Given the description of an element on the screen output the (x, y) to click on. 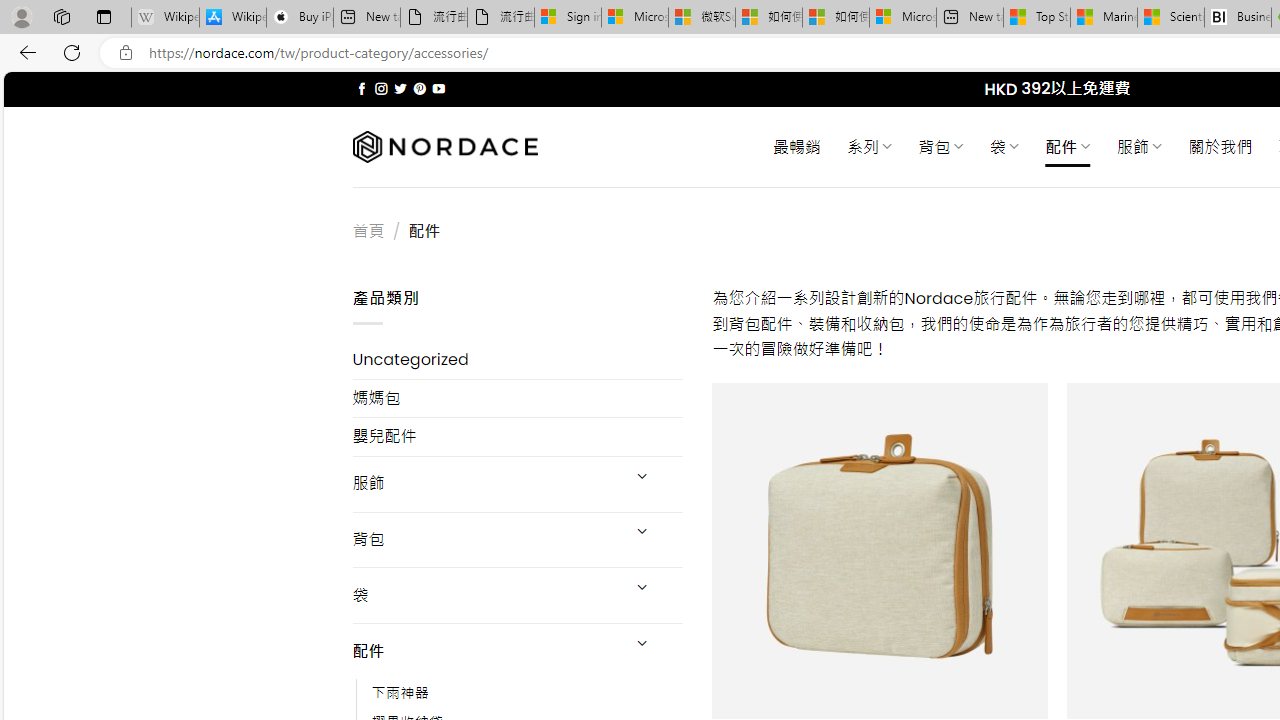
Uncategorized (517, 359)
Follow on Twitter (400, 88)
Follow on Pinterest (419, 88)
